Given the description of an element on the screen output the (x, y) to click on. 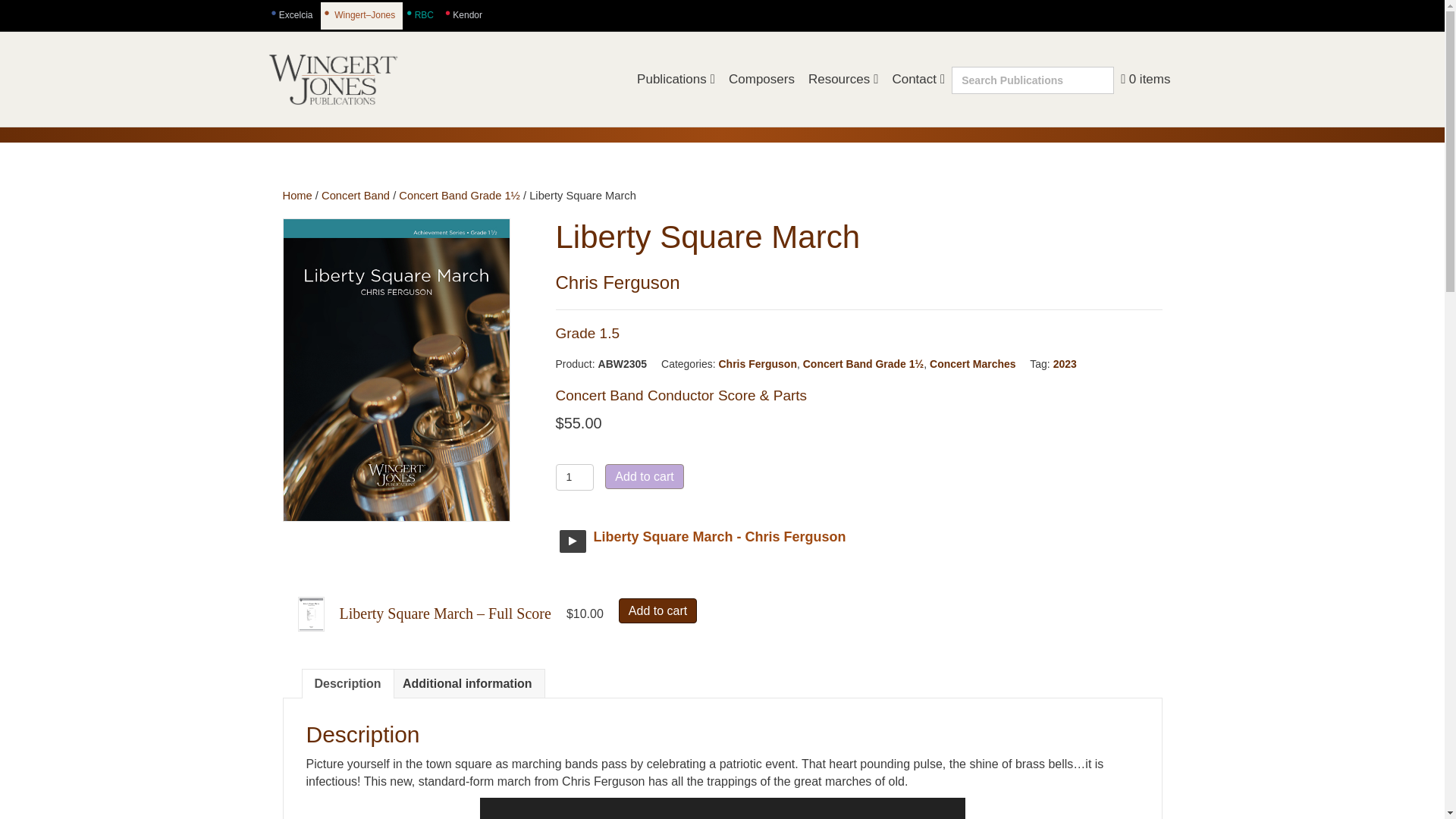
1 (574, 477)
Start shopping (1144, 78)
